Given the description of an element on the screen output the (x, y) to click on. 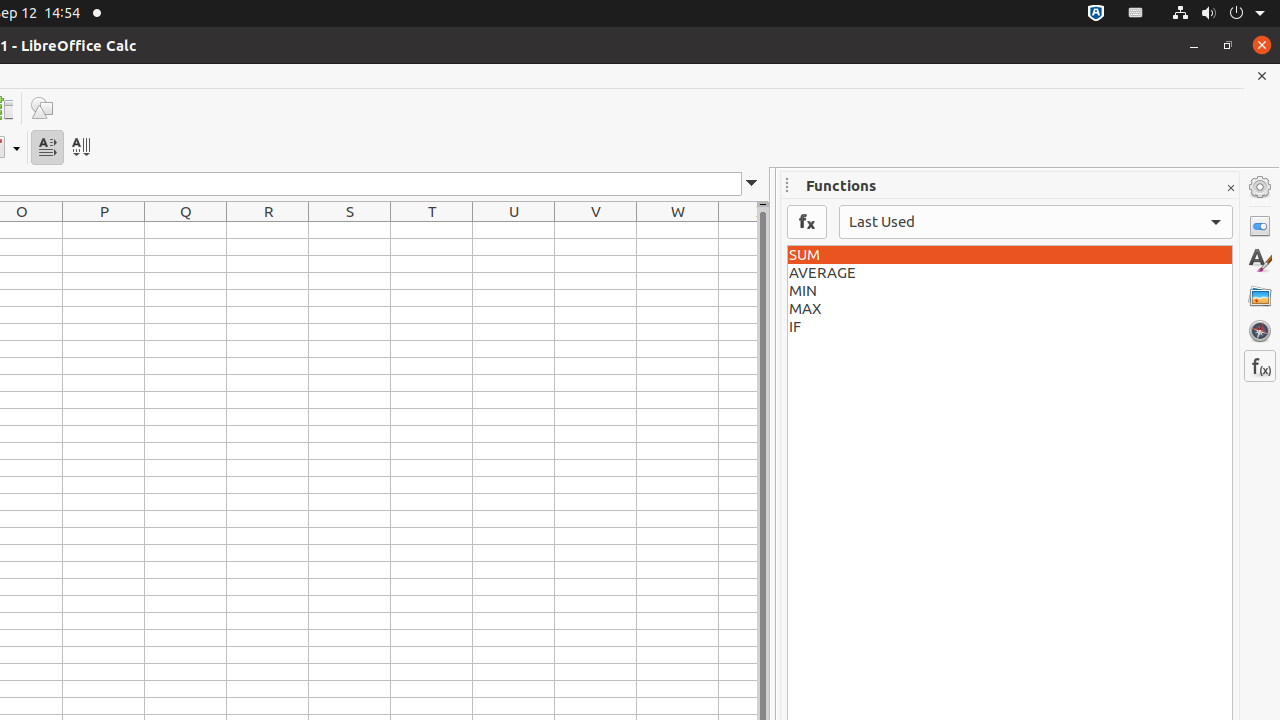
U1 Element type: table-cell (514, 230)
S1 Element type: table-cell (350, 230)
Q1 Element type: table-cell (186, 230)
